Given the description of an element on the screen output the (x, y) to click on. 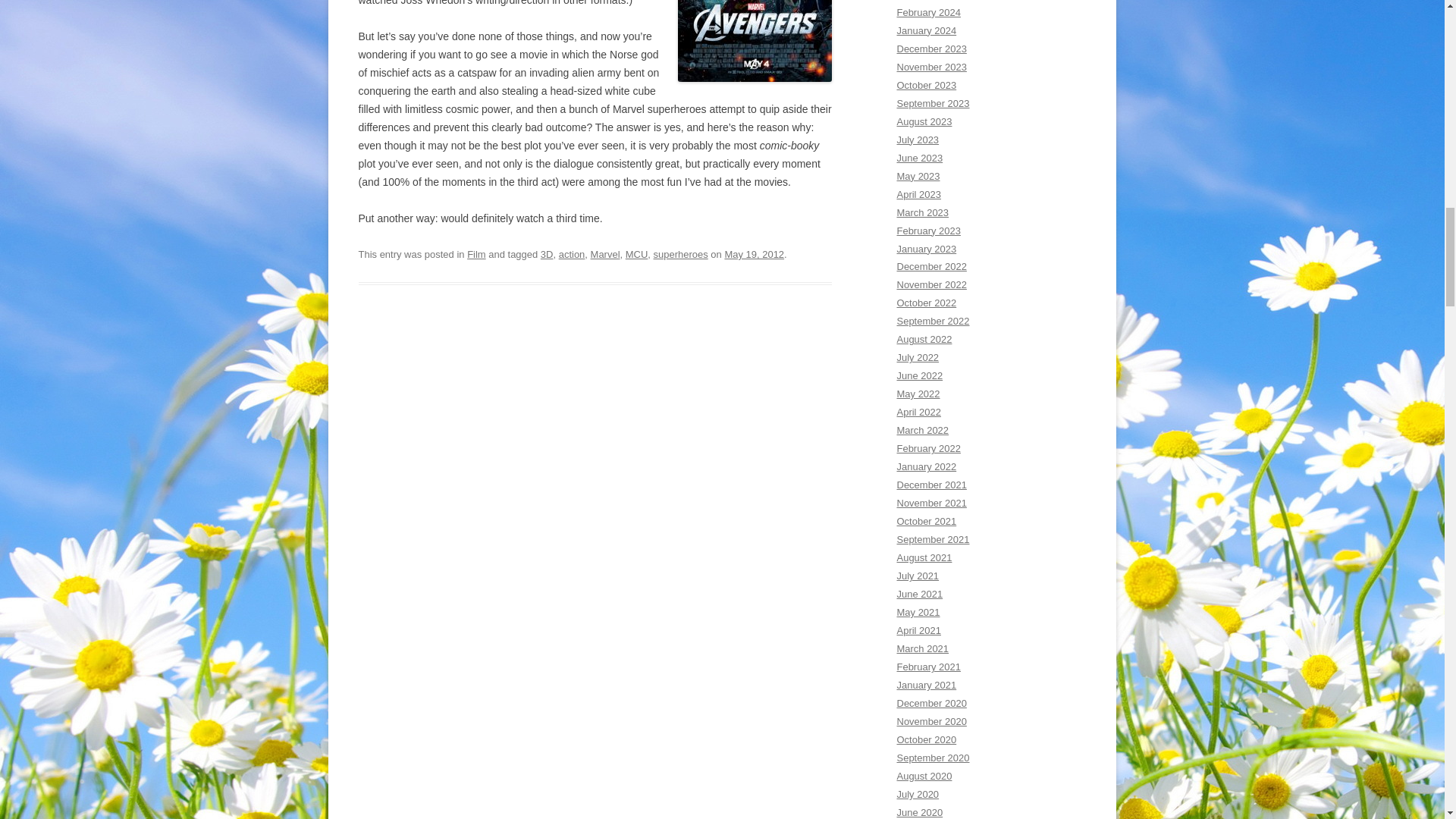
Film (476, 254)
Marvel (605, 254)
action (572, 254)
superheroes (680, 254)
MCU (636, 254)
3D (546, 254)
4:17 pm (753, 254)
May 19, 2012 (753, 254)
